Given the description of an element on the screen output the (x, y) to click on. 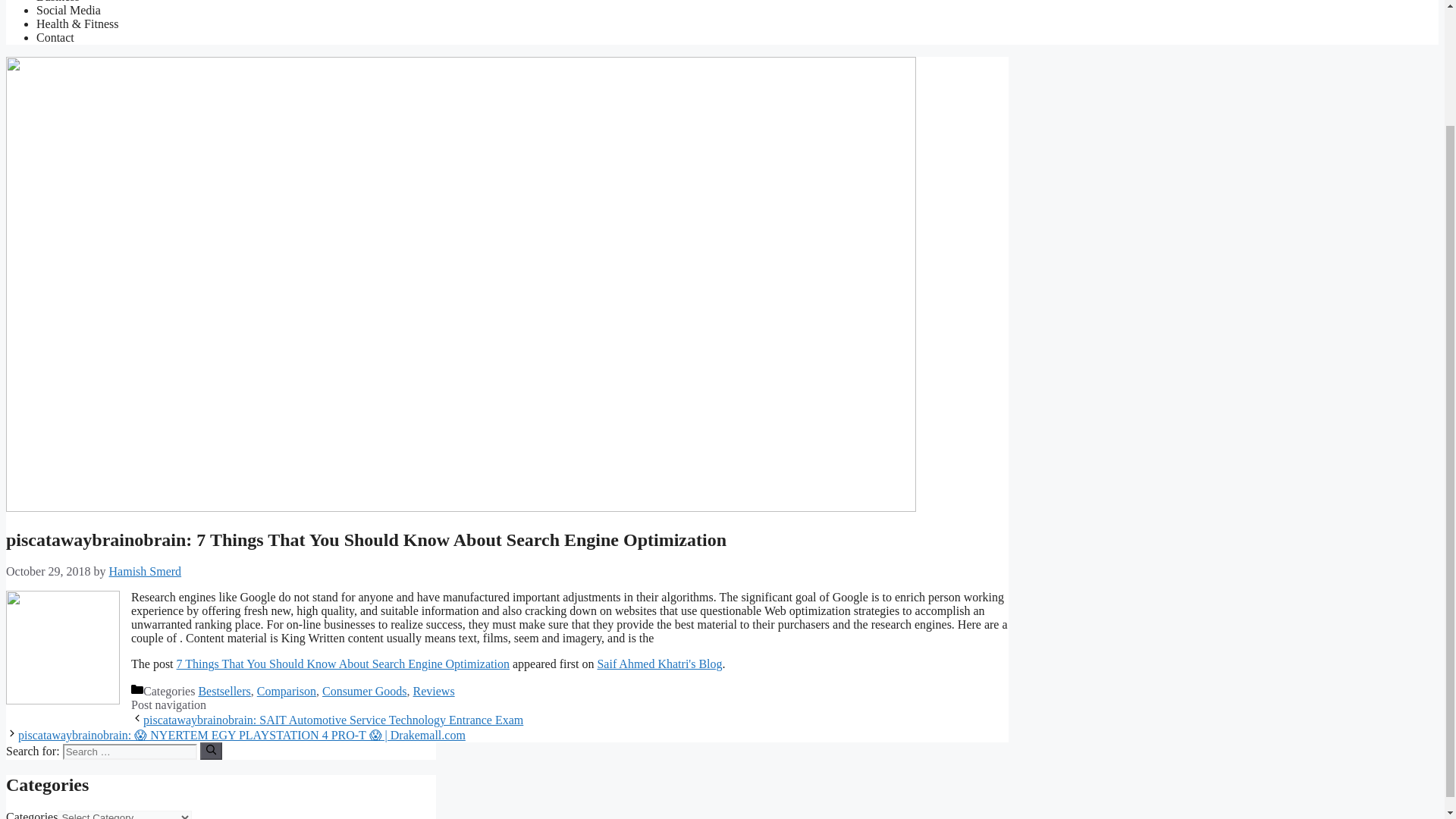
Consumer Goods (364, 690)
Hamish Smerd (145, 571)
Contact (55, 37)
Bestsellers (224, 690)
Search for: (129, 751)
Saif Ahmed Khatri's Blog (659, 663)
Business (58, 1)
Comparison (286, 690)
View all posts by Hamish Smerd (145, 571)
Previous (332, 719)
Social Media (68, 10)
Reviews (433, 690)
Next (241, 735)
